Given the description of an element on the screen output the (x, y) to click on. 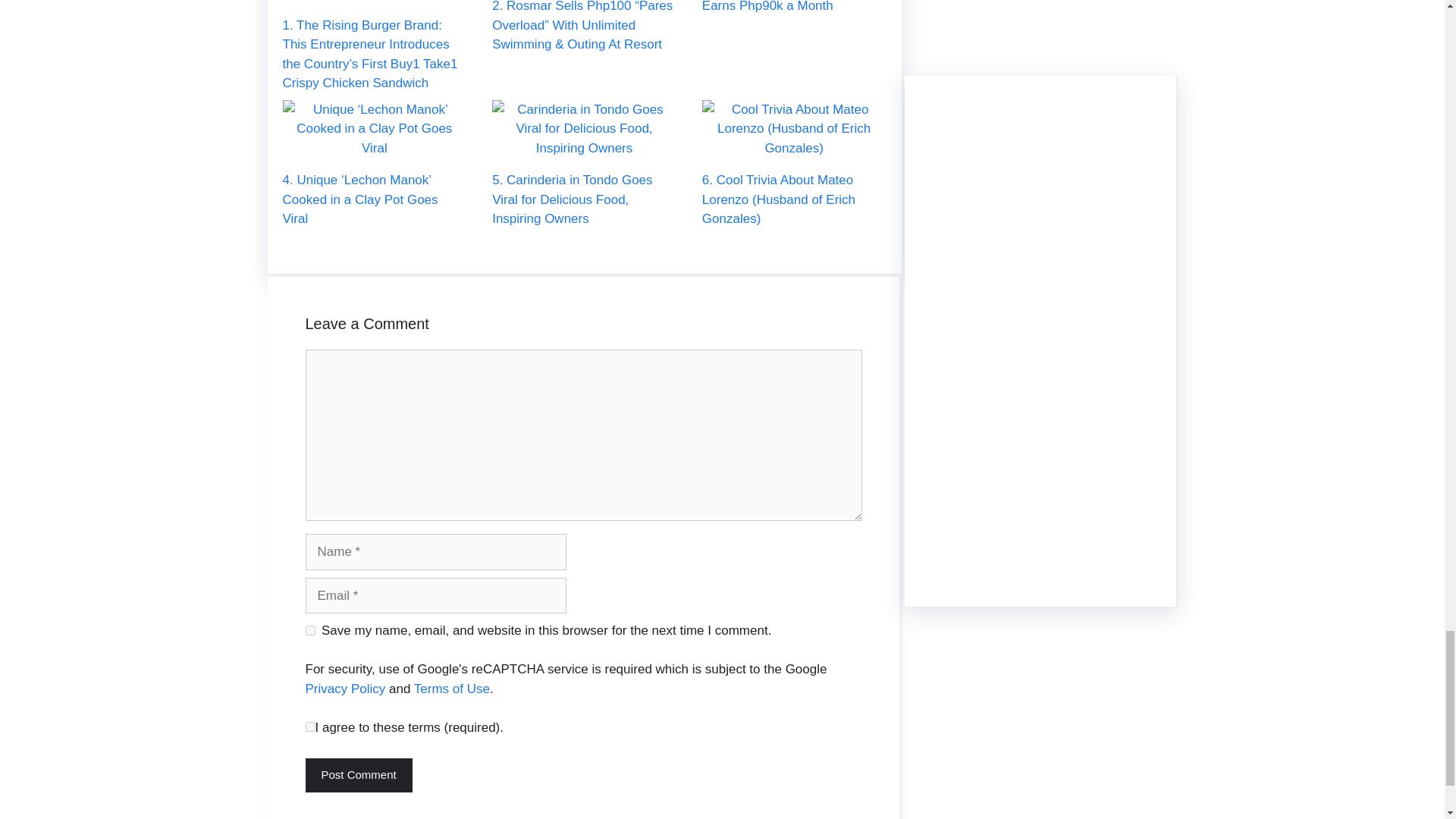
yes (309, 630)
on (309, 726)
Post Comment (358, 775)
